Given the description of an element on the screen output the (x, y) to click on. 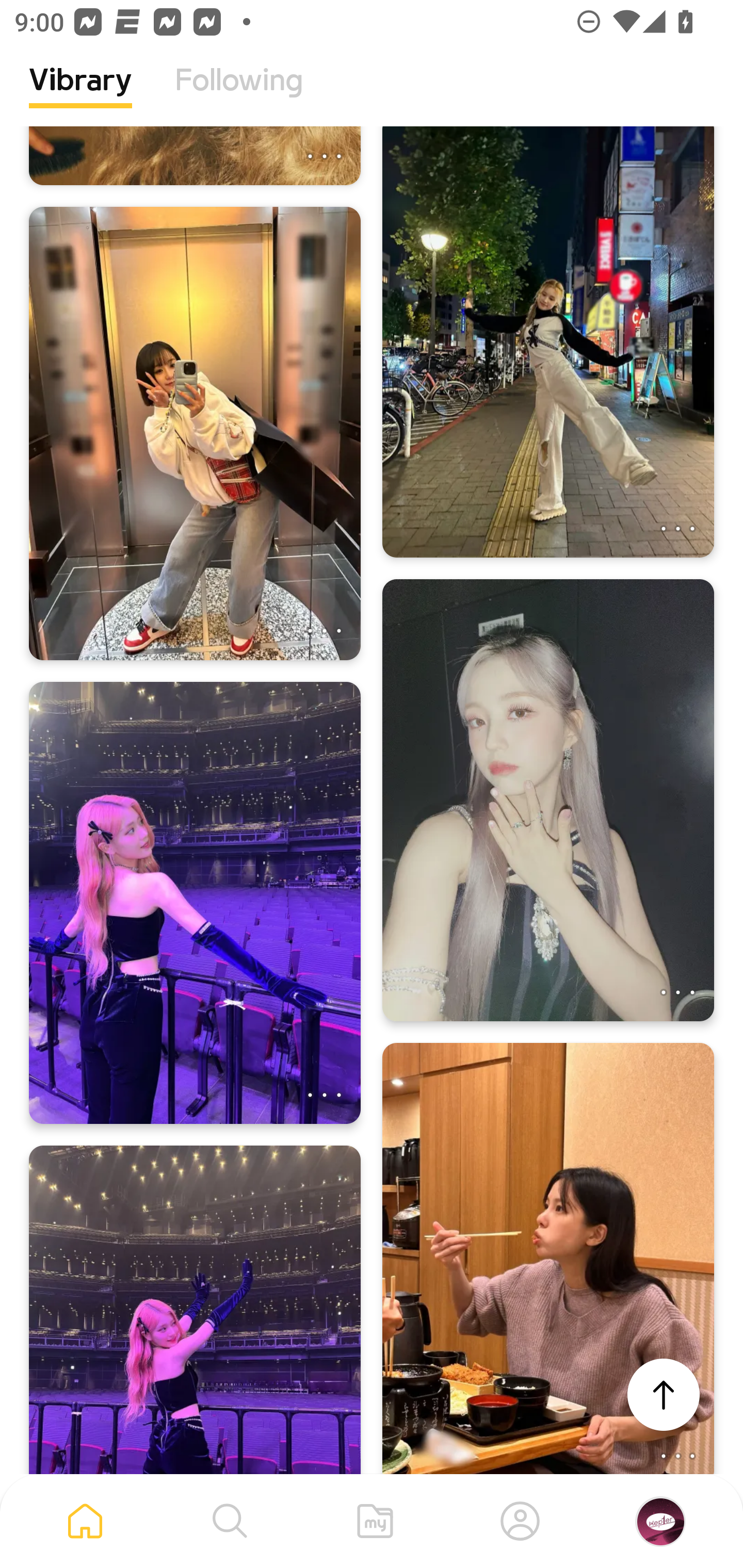
Vibrary (80, 95)
Following (239, 95)
